Given the description of an element on the screen output the (x, y) to click on. 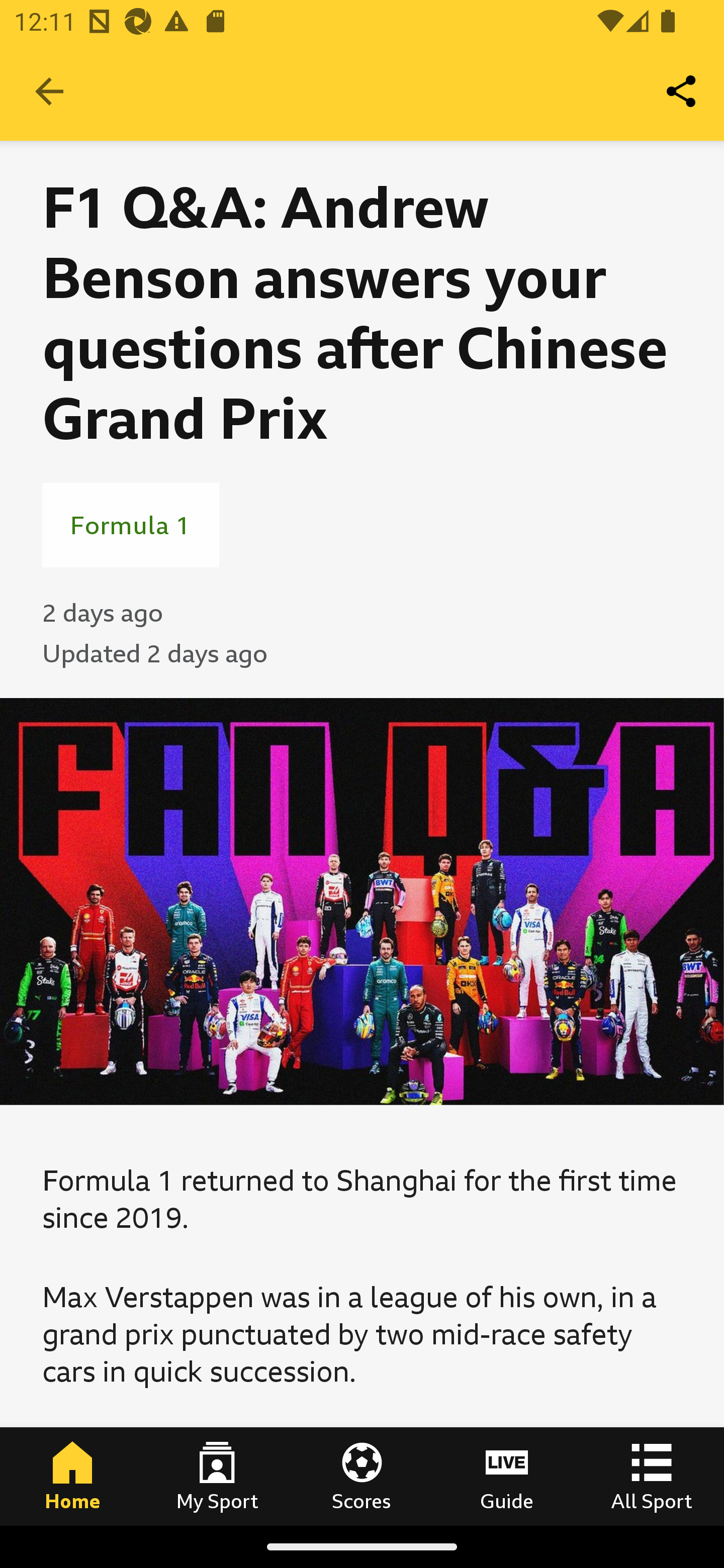
Navigate up (49, 91)
Share (681, 90)
Formula 1 (130, 524)
My Sport (216, 1475)
Scores (361, 1475)
Guide (506, 1475)
All Sport (651, 1475)
